Given the description of an element on the screen output the (x, y) to click on. 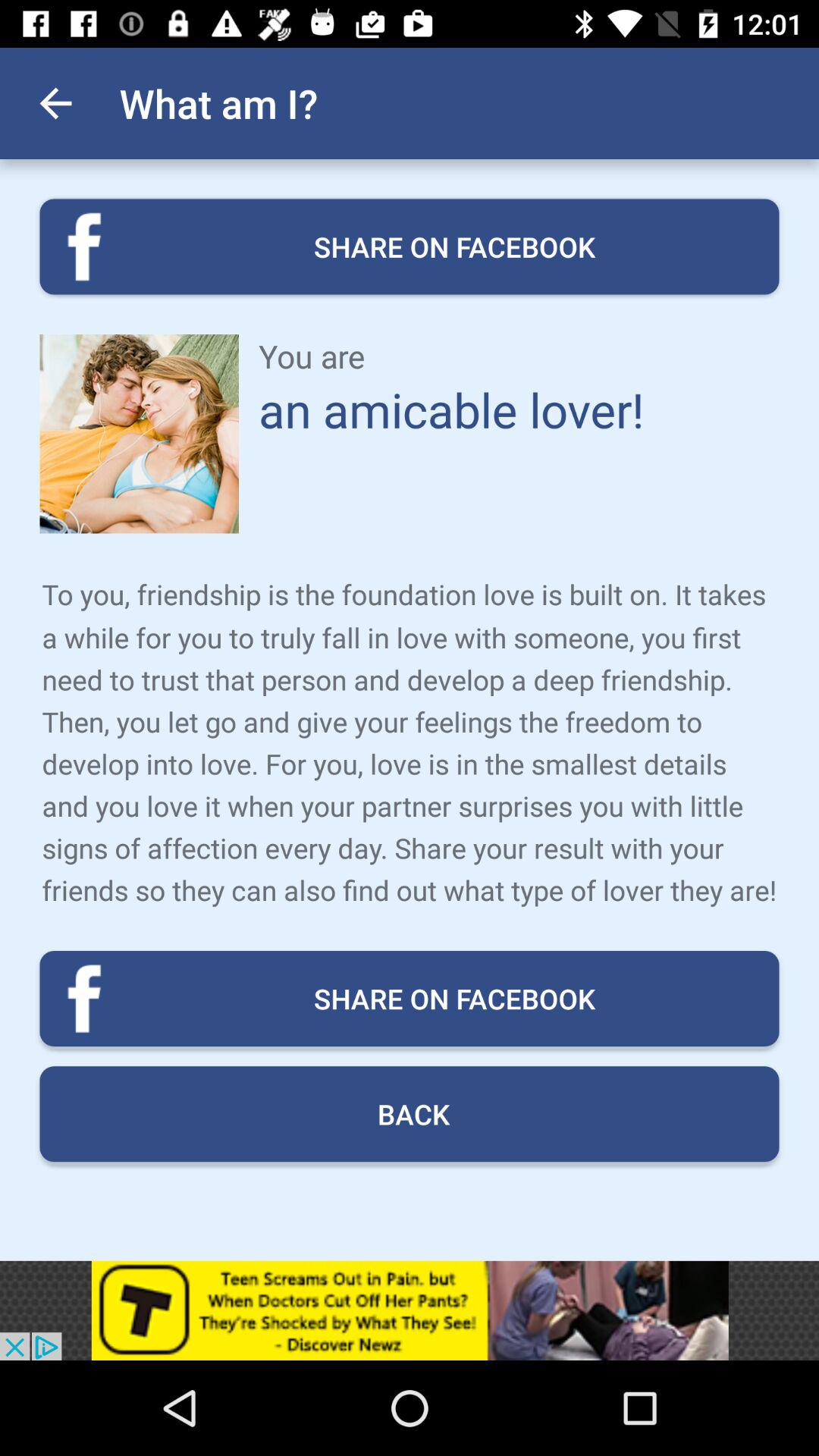
advertisement (409, 1310)
